Given the description of an element on the screen output the (x, y) to click on. 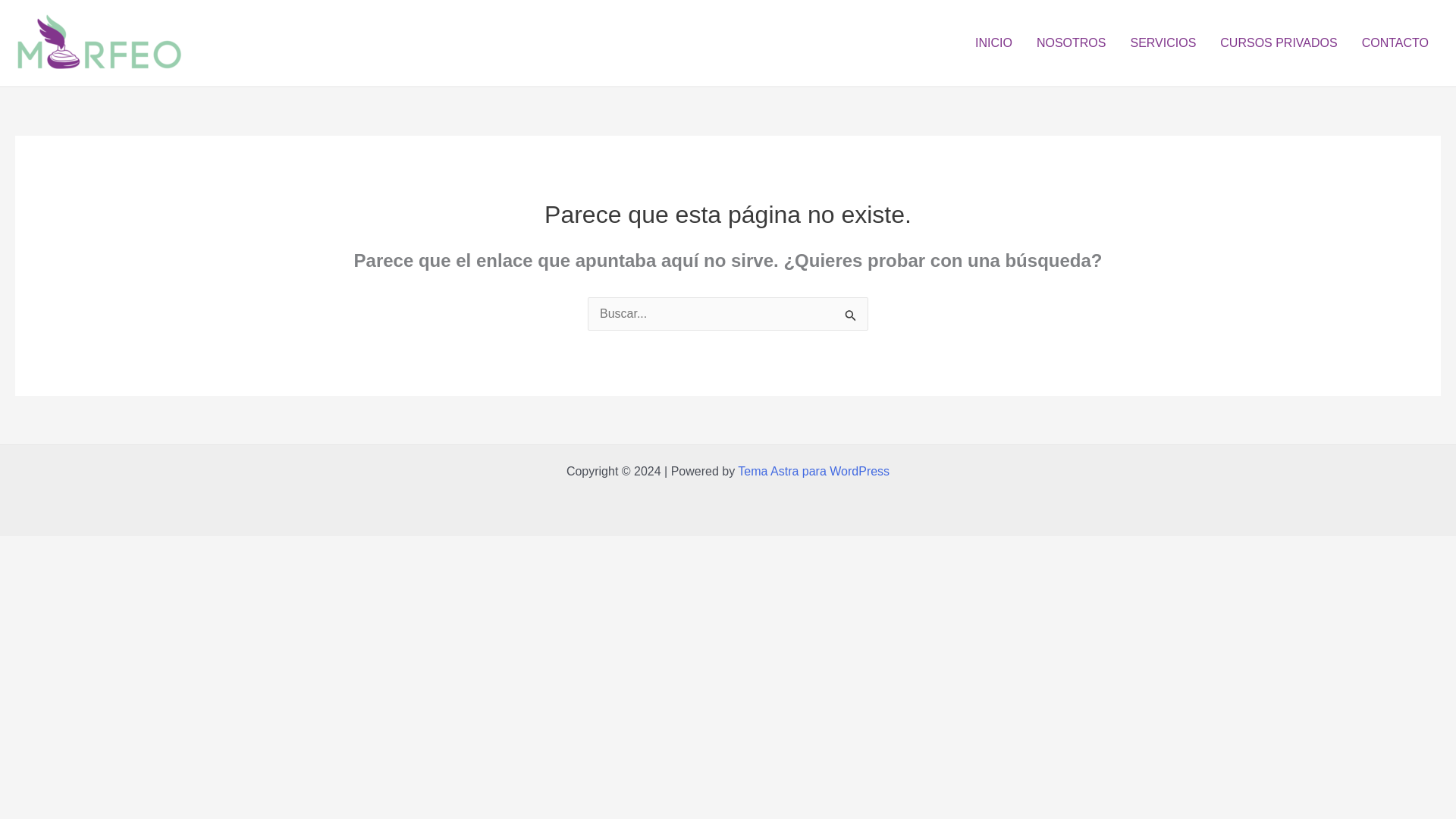
CONTACTO (1395, 43)
INICIO (993, 43)
CURSOS PRIVADOS (1278, 43)
Tema Astra para WordPress (813, 471)
NOSOTROS (1071, 43)
SERVICIOS (1163, 43)
